Given the description of an element on the screen output the (x, y) to click on. 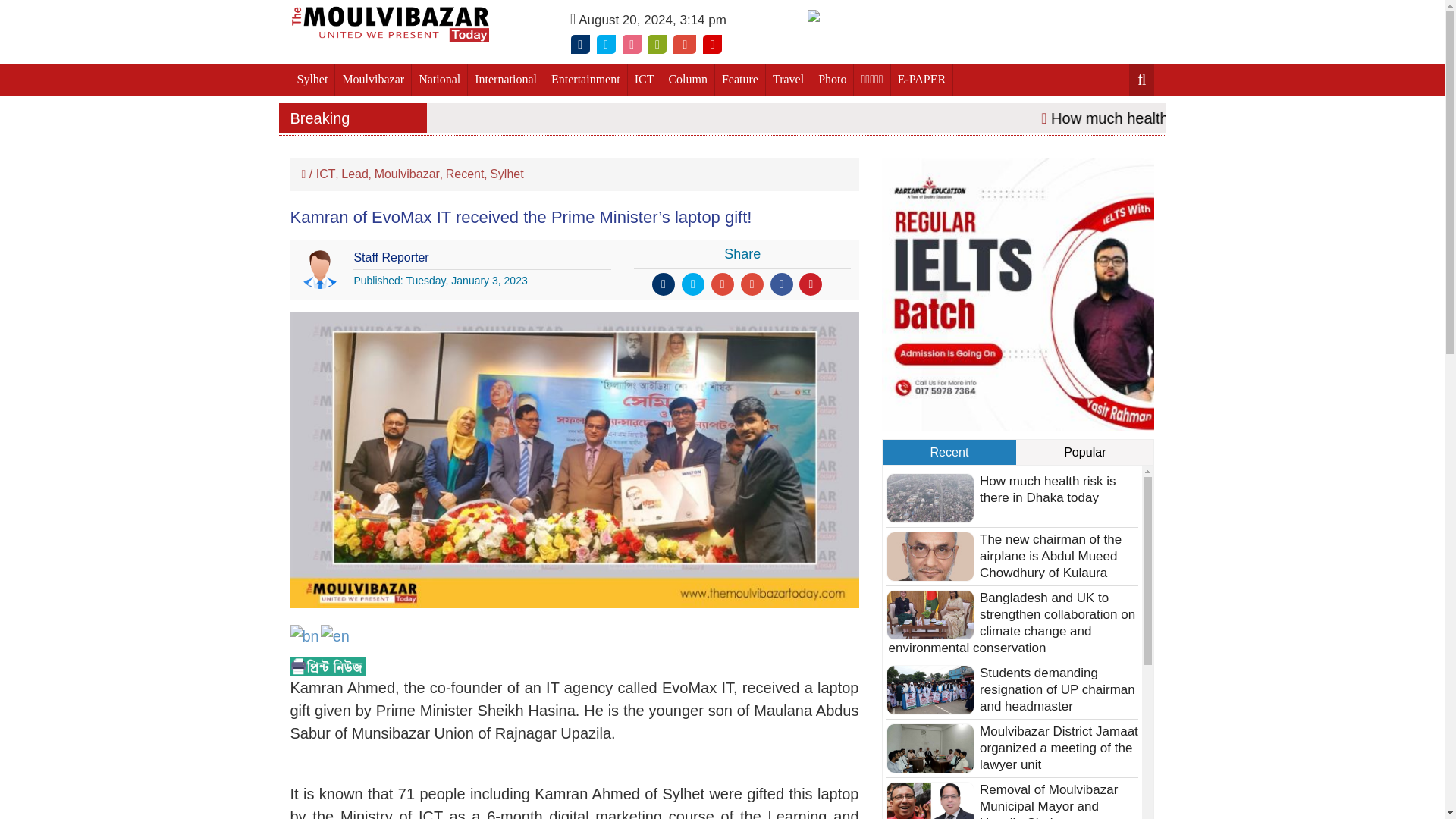
Breaking (352, 118)
National (439, 79)
E-PAPER (922, 79)
Photo (831, 79)
Sylhet (311, 79)
E-PAPER (922, 79)
Lead (354, 173)
Bengali (304, 634)
ICT (644, 79)
Photo (831, 79)
